Given the description of an element on the screen output the (x, y) to click on. 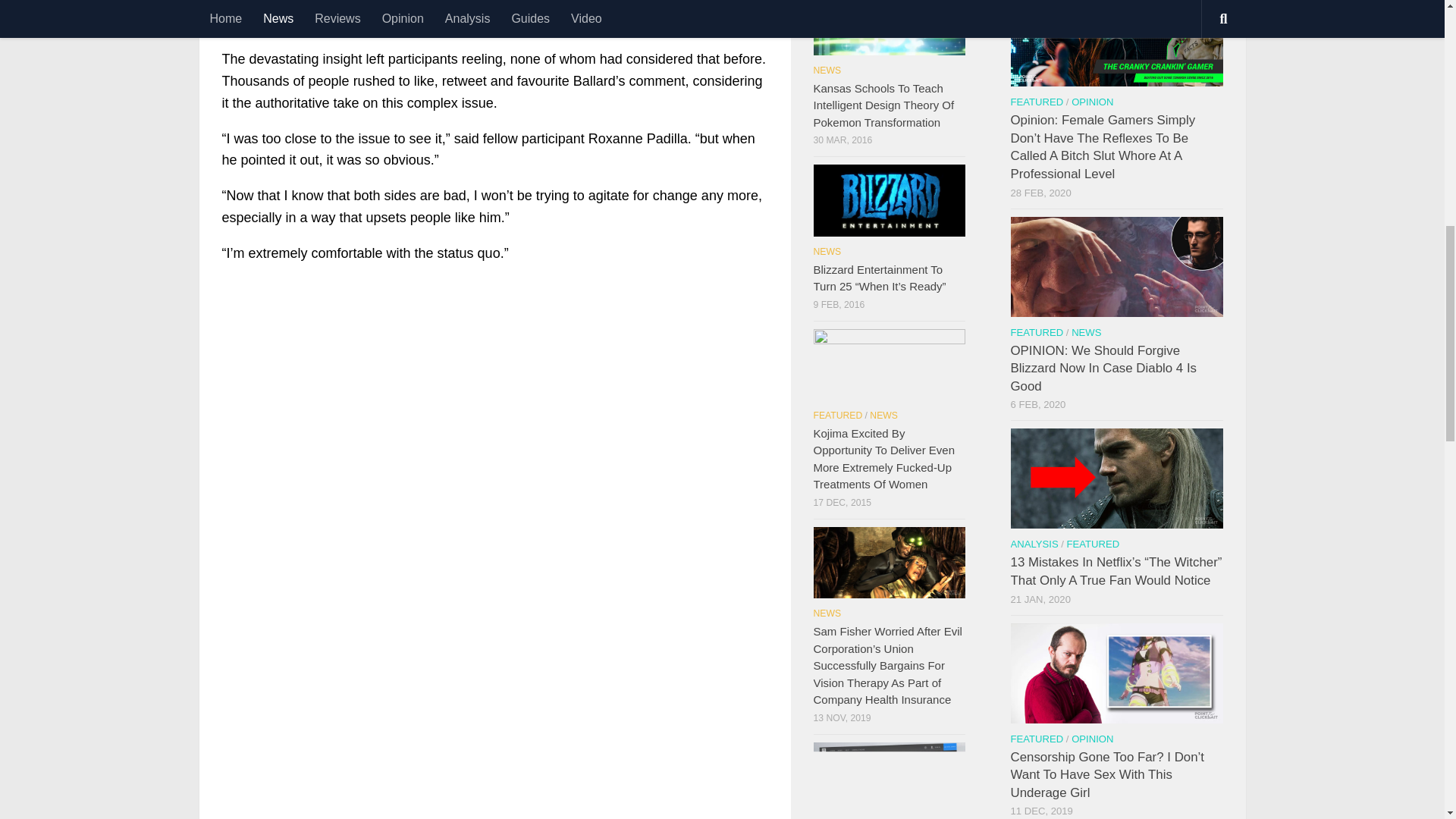
FEATURED (1036, 101)
